Given the description of an element on the screen output the (x, y) to click on. 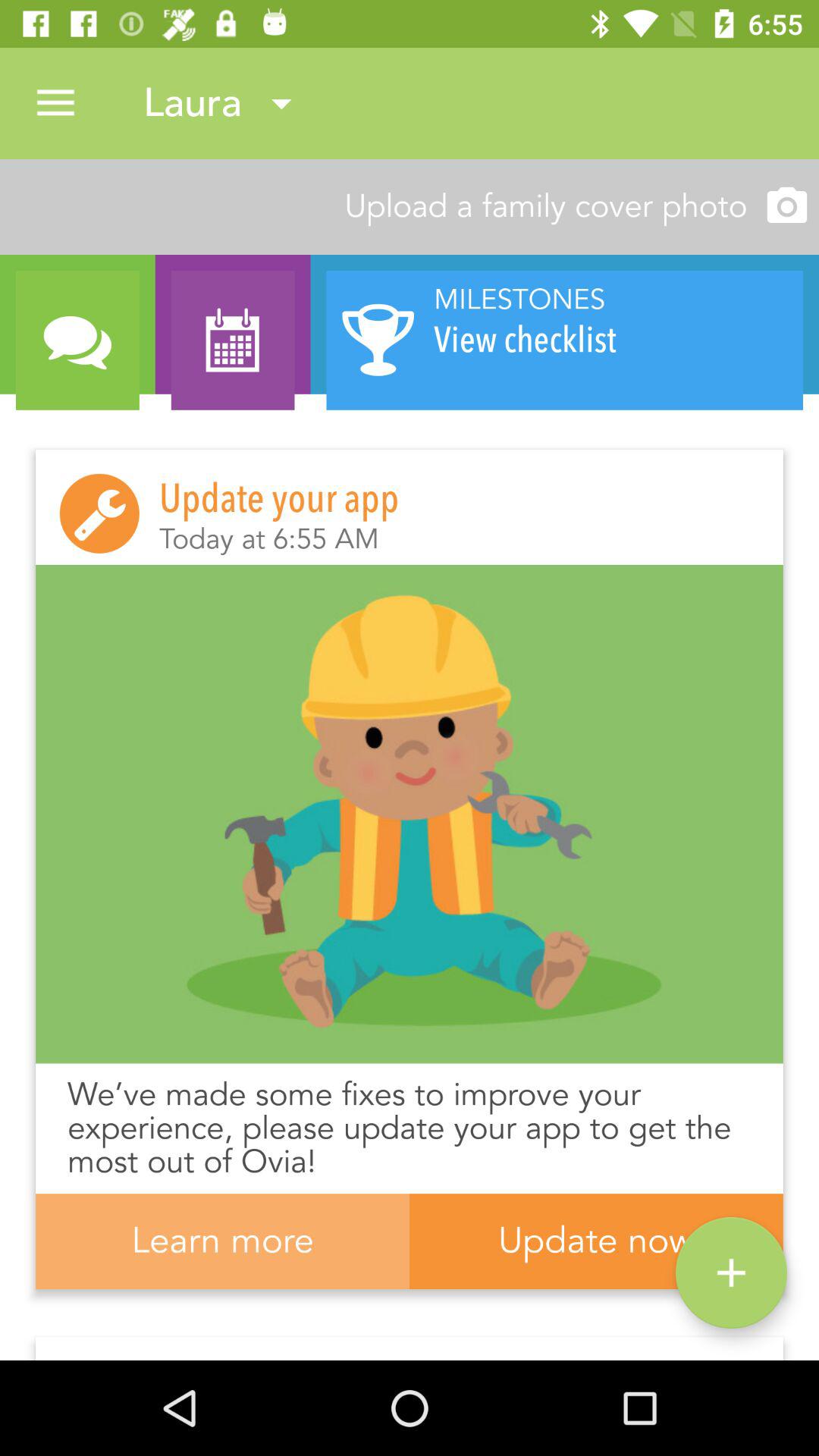
choose item above the upload a family item (55, 103)
